Given the description of an element on the screen output the (x, y) to click on. 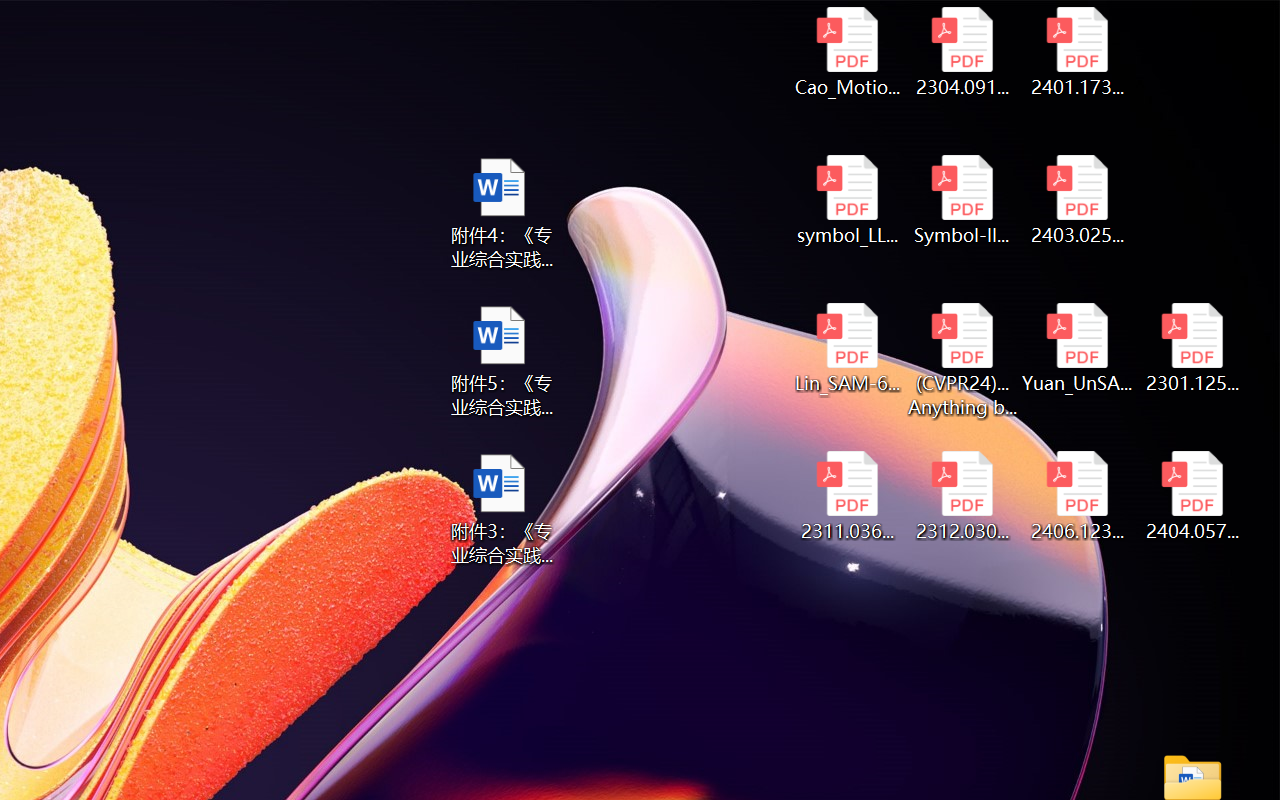
2312.03032v2.pdf (962, 496)
Symbol-llm-v2.pdf (962, 200)
symbol_LLM.pdf (846, 200)
2406.12373v2.pdf (1077, 496)
2403.02502v1.pdf (1077, 200)
2401.17399v1.pdf (1077, 52)
2304.09121v3.pdf (962, 52)
2404.05719v1.pdf (1192, 496)
2311.03658v2.pdf (846, 496)
2301.12597v3.pdf (1192, 348)
